Given the description of an element on the screen output the (x, y) to click on. 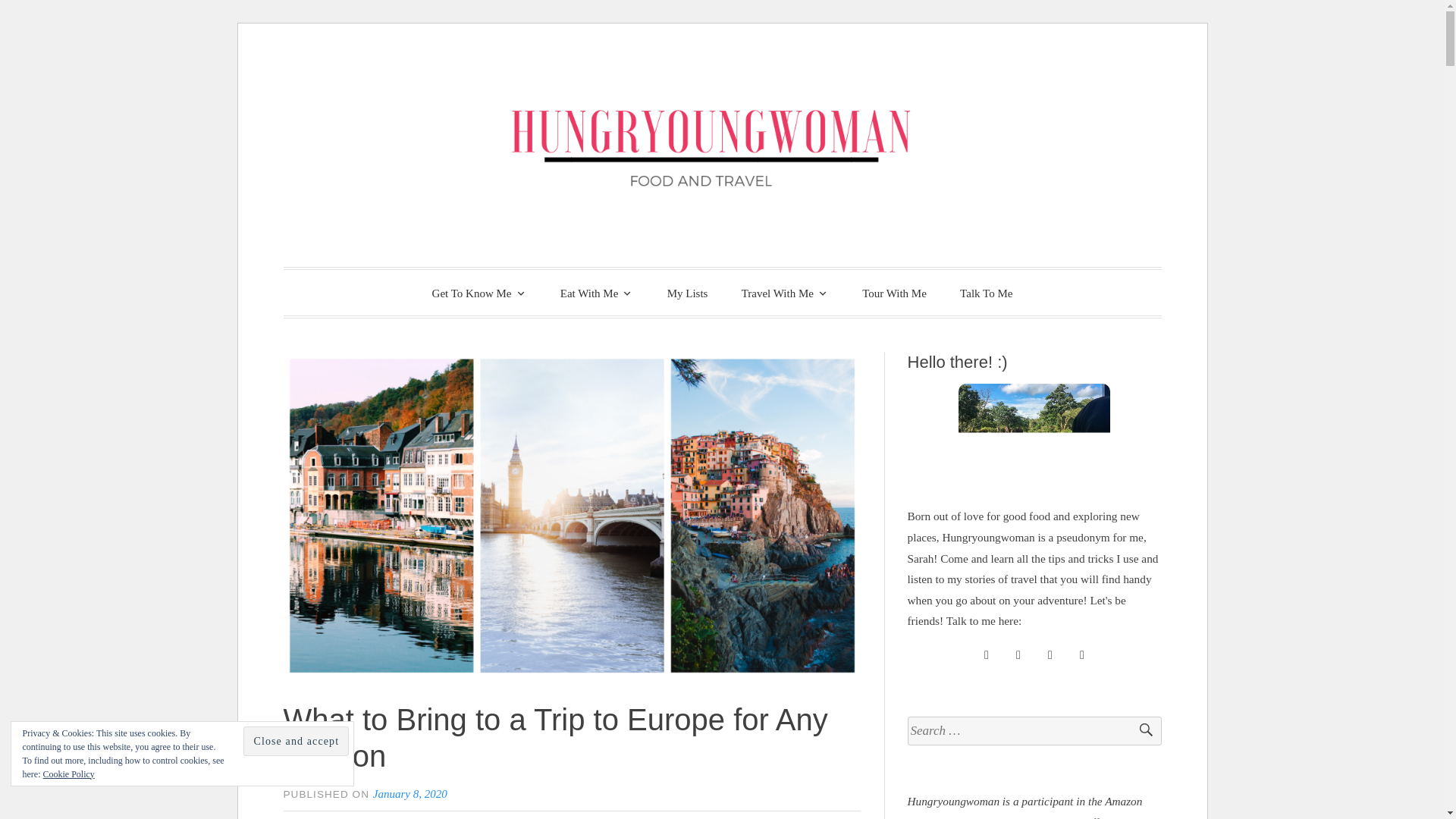
January 8, 2020 (409, 793)
Tour With Me (894, 294)
Search (1138, 731)
Eat With Me (596, 292)
Travel With Me (785, 292)
hungryoungwoman (525, 267)
Get To Know Me (478, 292)
Talk To Me (985, 294)
Search (1138, 731)
